Given the description of an element on the screen output the (x, y) to click on. 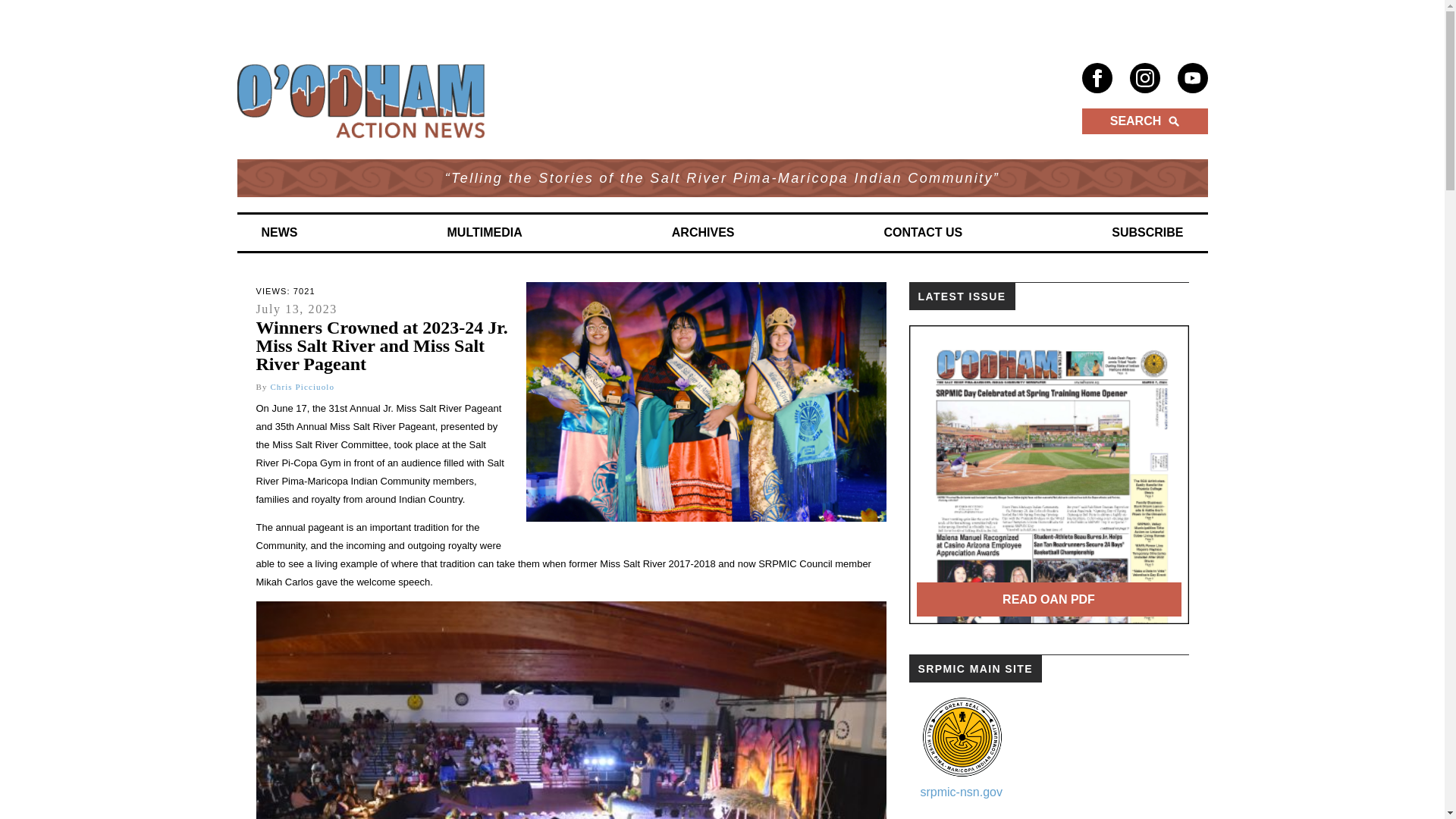
SUBSCRIBE (1147, 232)
MULTIMEDIA (484, 232)
srpmic-nsn.gov (961, 791)
Posts by Chris Picciuolo (301, 386)
Chris Picciuolo (301, 386)
SEARCH (1144, 121)
NEWS (278, 232)
CONTACT US (923, 232)
READ OAN PDF (1047, 599)
